Given the description of an element on the screen output the (x, y) to click on. 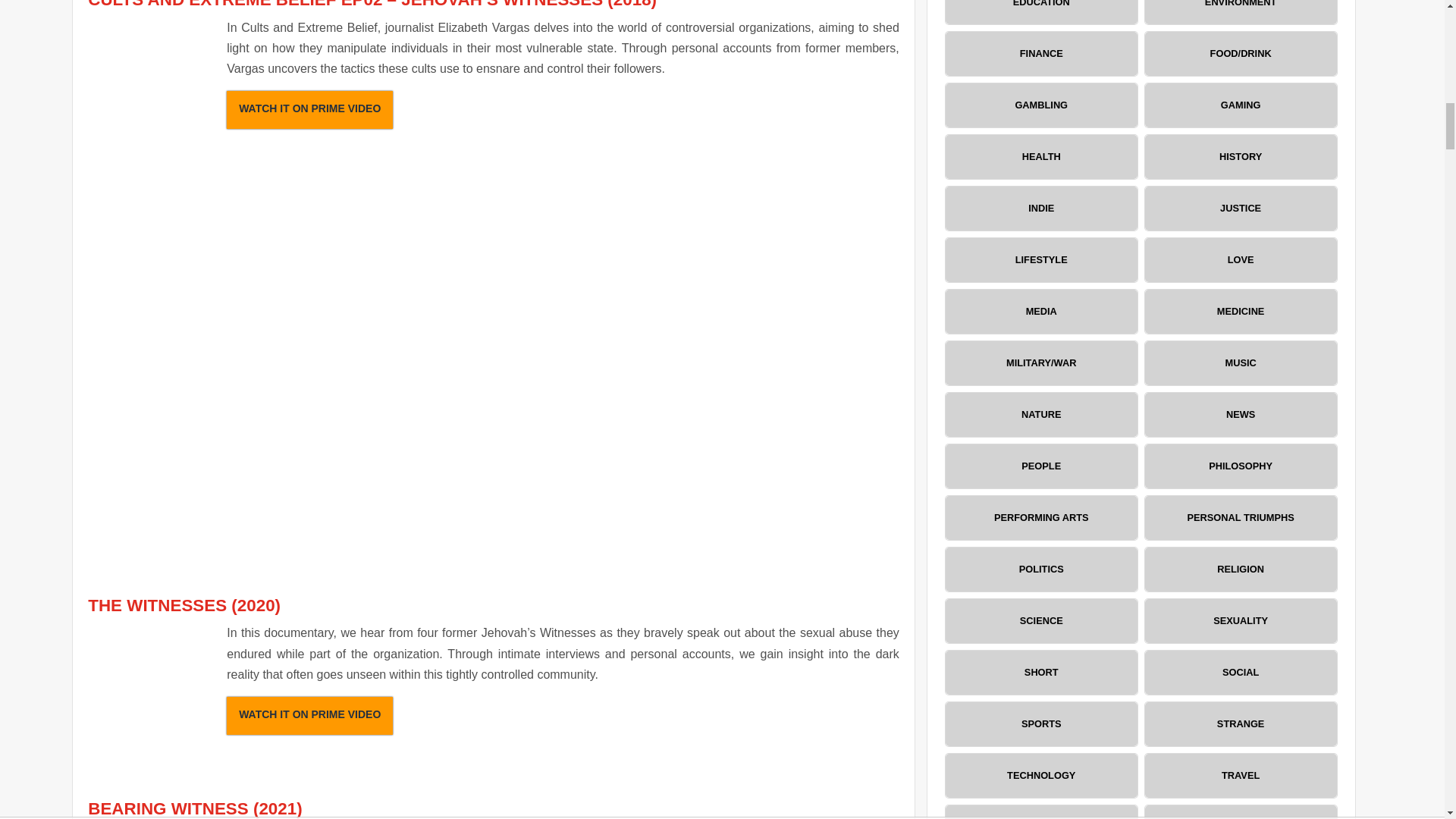
Watch it on Prime (310, 715)
Watch it on Prime (310, 109)
WATCH IT ON PRIME VIDEO (310, 715)
WATCH IT ON PRIME VIDEO (310, 109)
